Given the description of an element on the screen output the (x, y) to click on. 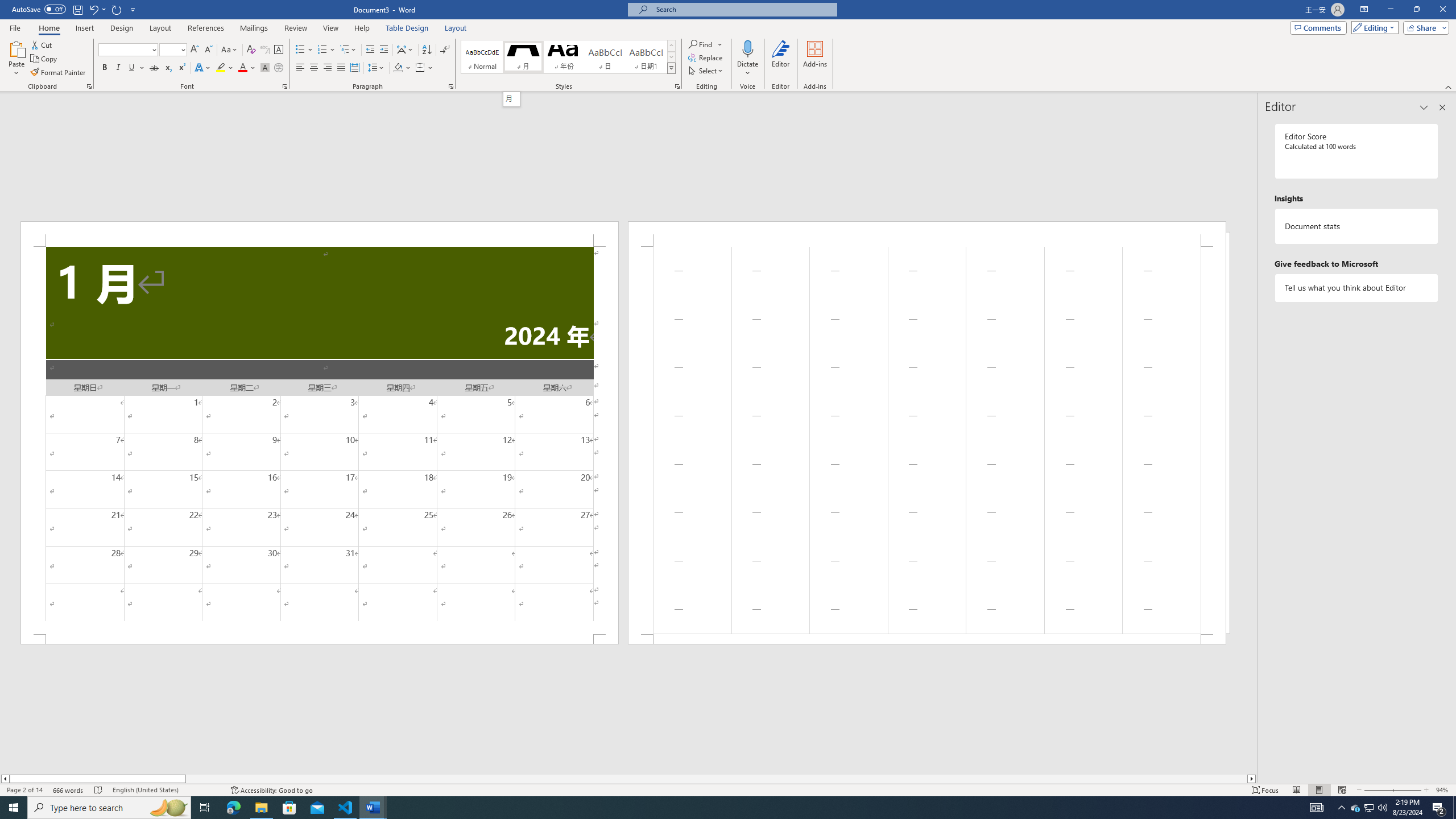
Bold (104, 67)
Language English (United States) (165, 790)
Font Color (246, 67)
Sort... (426, 49)
Page 2 content (926, 439)
Class: MsoCommandBar (728, 789)
Select (705, 69)
Styles... (676, 85)
